Given the description of an element on the screen output the (x, y) to click on. 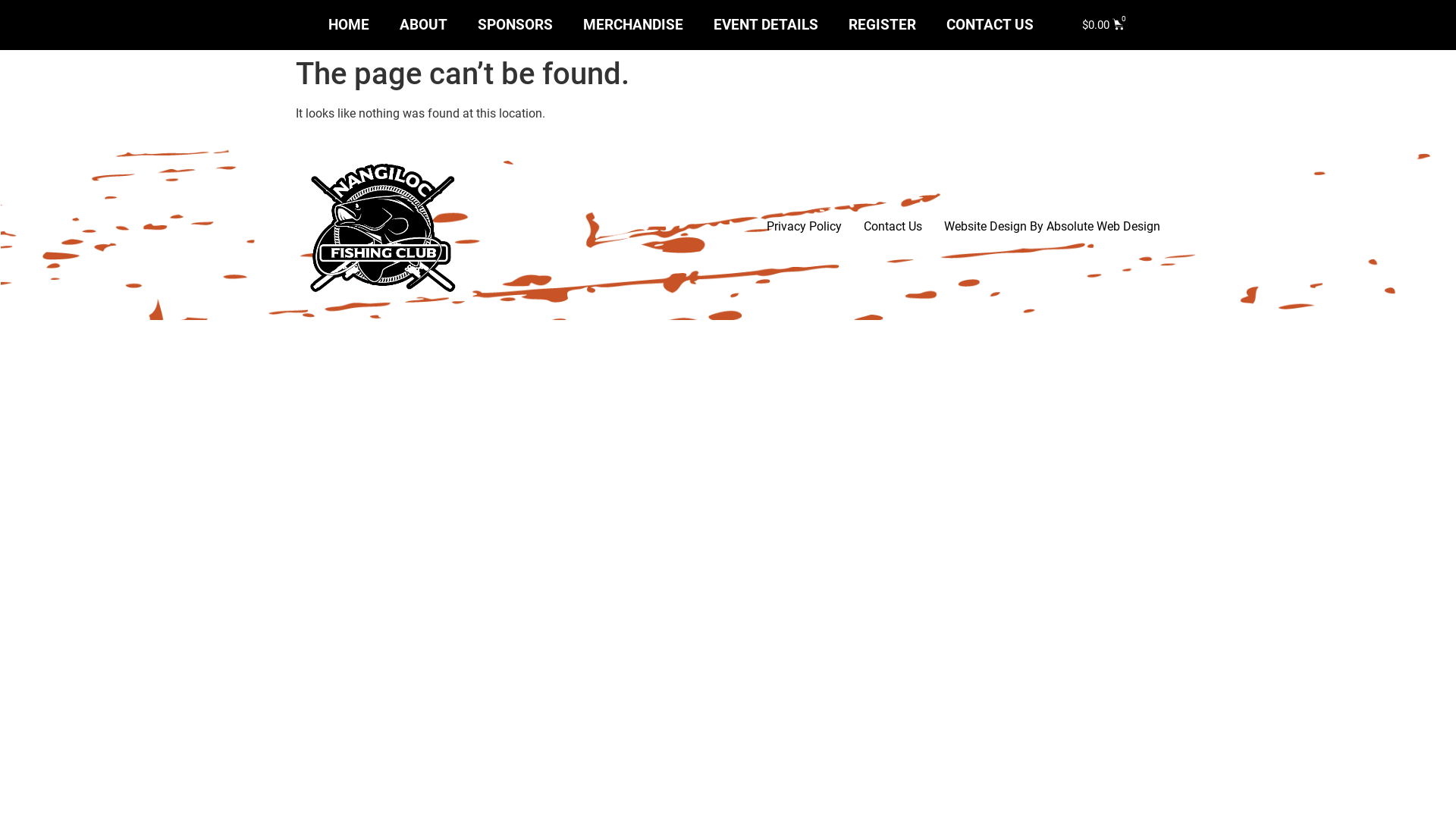
ABOUT Element type: text (423, 24)
SPONSORS Element type: text (514, 24)
$0.00
0 Element type: text (1103, 25)
Website Design By Absolute Web Design Element type: text (1052, 226)
REGISTER Element type: text (882, 24)
Privacy Policy Element type: text (803, 226)
EVENT DETAILS Element type: text (765, 24)
Contact Us Element type: text (892, 226)
CONTACT US Element type: text (989, 24)
MERCHANDISE Element type: text (632, 24)
HOME Element type: text (348, 24)
